Given the description of an element on the screen output the (x, y) to click on. 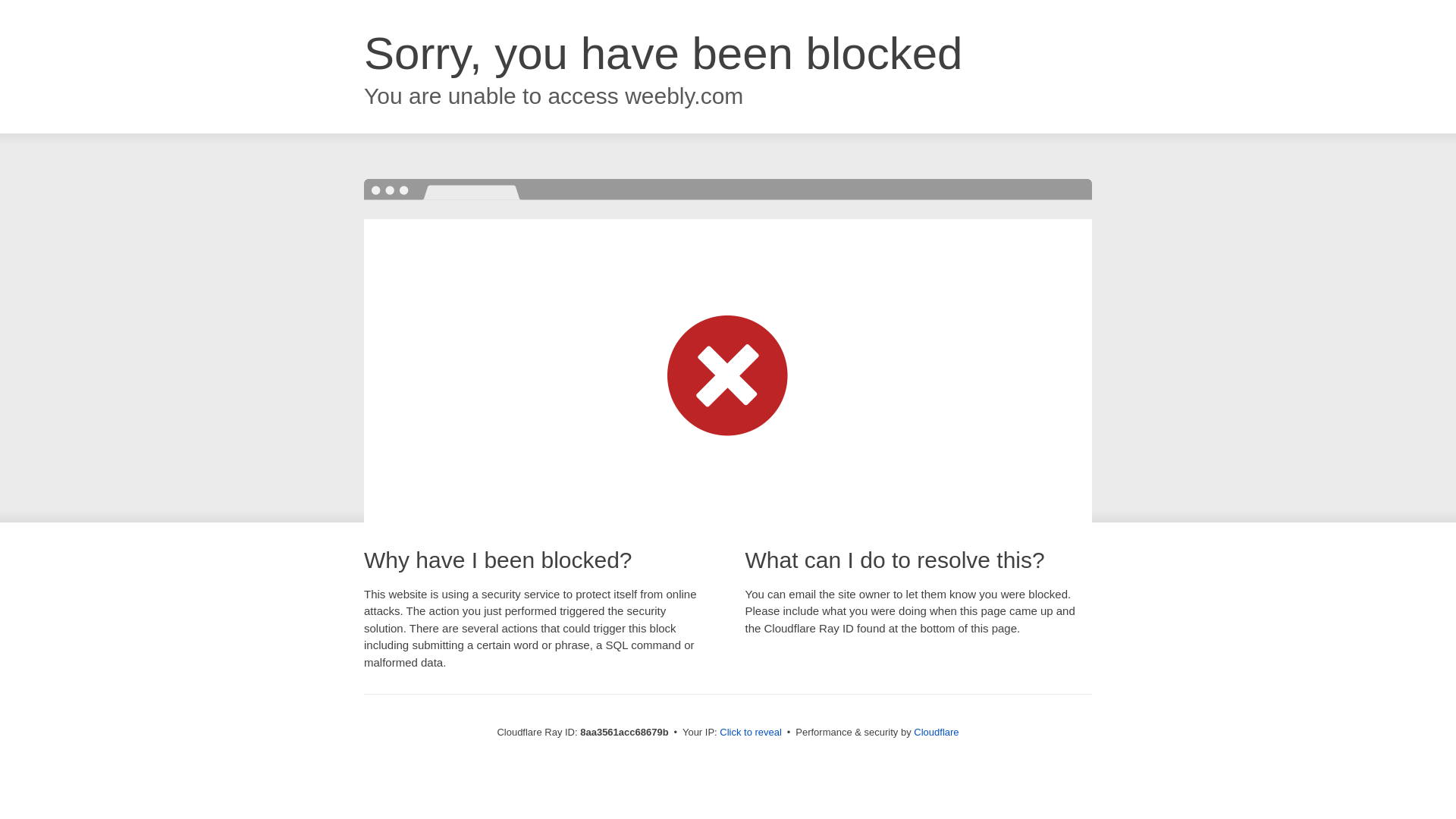
Click to reveal (750, 732)
Cloudflare (936, 731)
